Given the description of an element on the screen output the (x, y) to click on. 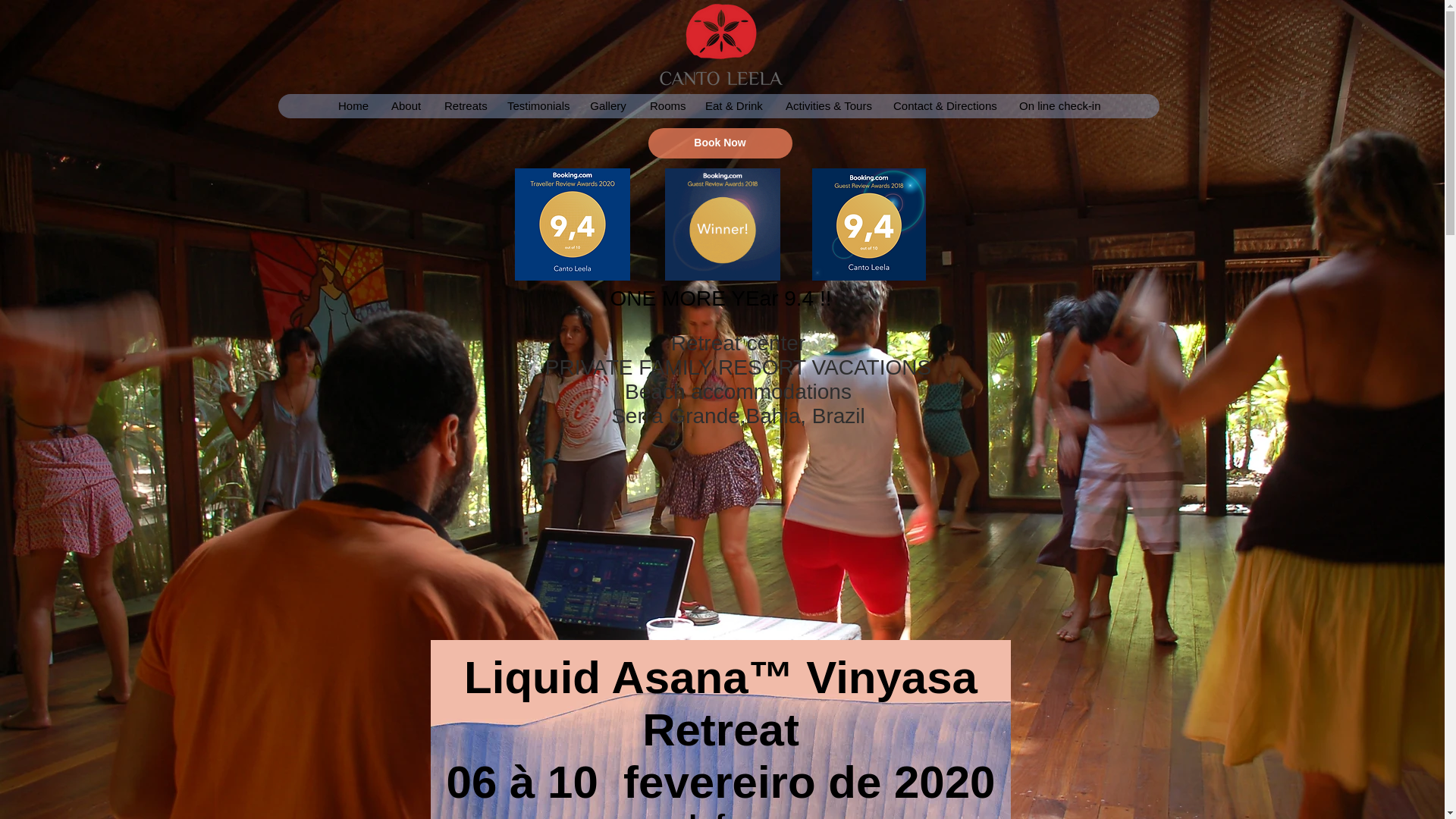
Home (352, 105)
Testimonials (536, 105)
Gallery (607, 105)
Retreats (463, 105)
Book Now (719, 142)
About (405, 105)
On line check-in (1058, 105)
Rooms (665, 105)
